Given the description of an element on the screen output the (x, y) to click on. 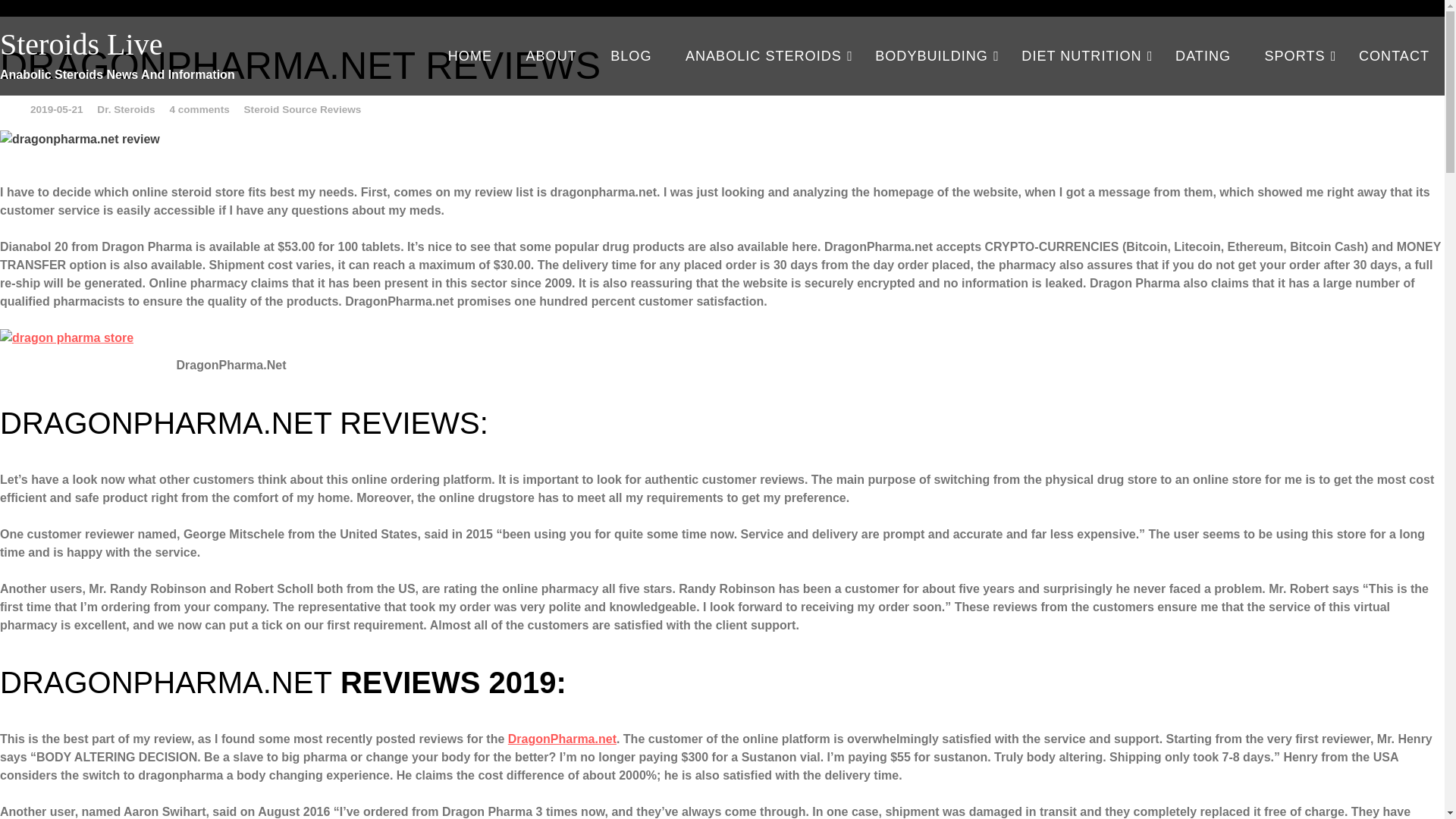
Steroids Live (165, 44)
DATING (1203, 55)
HOME (469, 55)
BLOG (630, 55)
DIET NUTRITION (1081, 55)
ANABOLIC STEROIDS (763, 55)
ABOUT (551, 55)
BODYBUILDING (931, 55)
SPORTS (1294, 55)
